Given the description of an element on the screen output the (x, y) to click on. 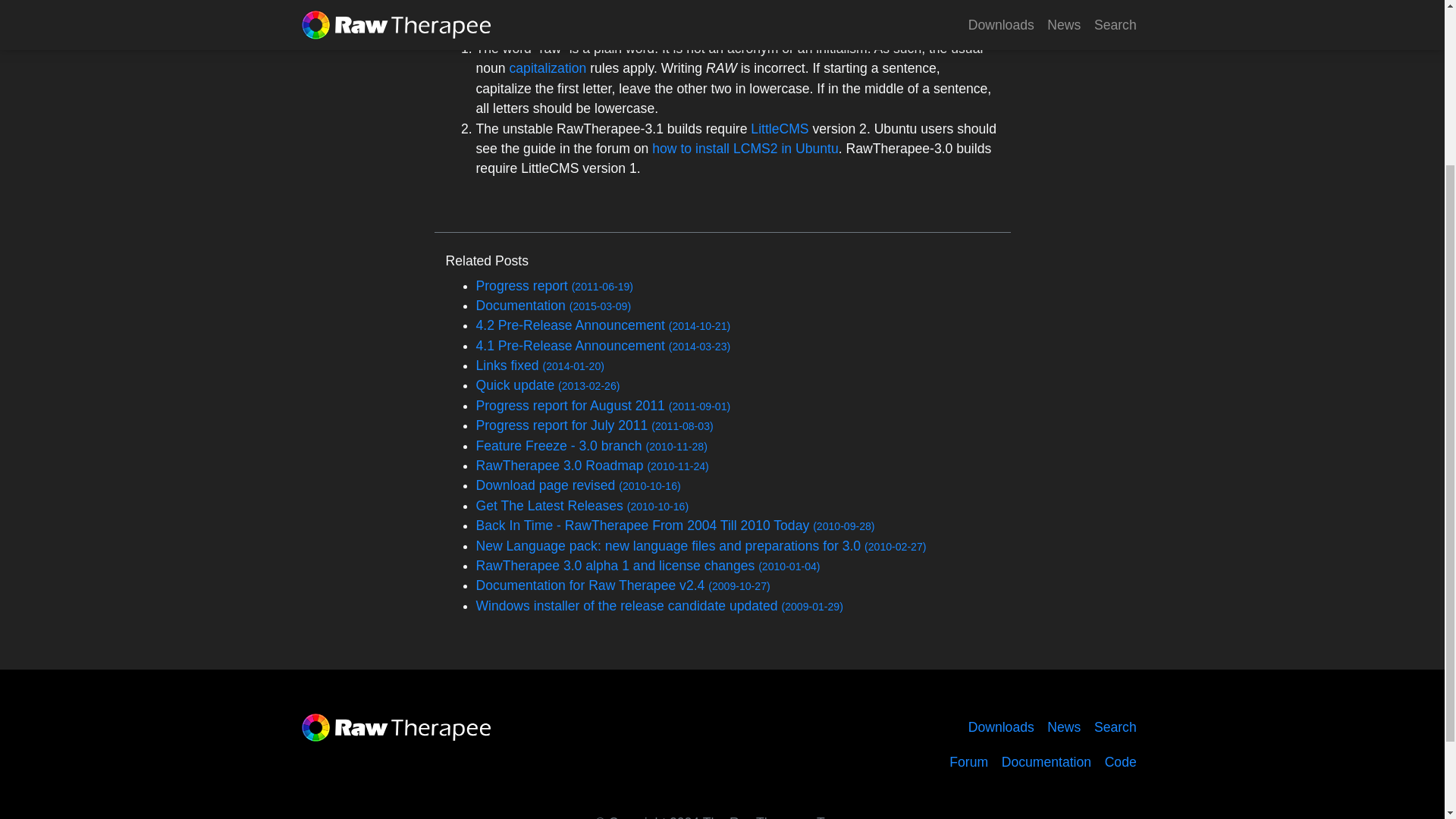
LittleCMS download page (779, 128)
Code (1119, 762)
Downloads (1000, 726)
Documentation (1045, 762)
LittleCMS (779, 128)
RawTherapee (396, 727)
how to install LCMS2 in Ubuntu (745, 148)
Search (1115, 726)
capitalization (547, 68)
Forum (968, 762)
